Given the description of an element on the screen output the (x, y) to click on. 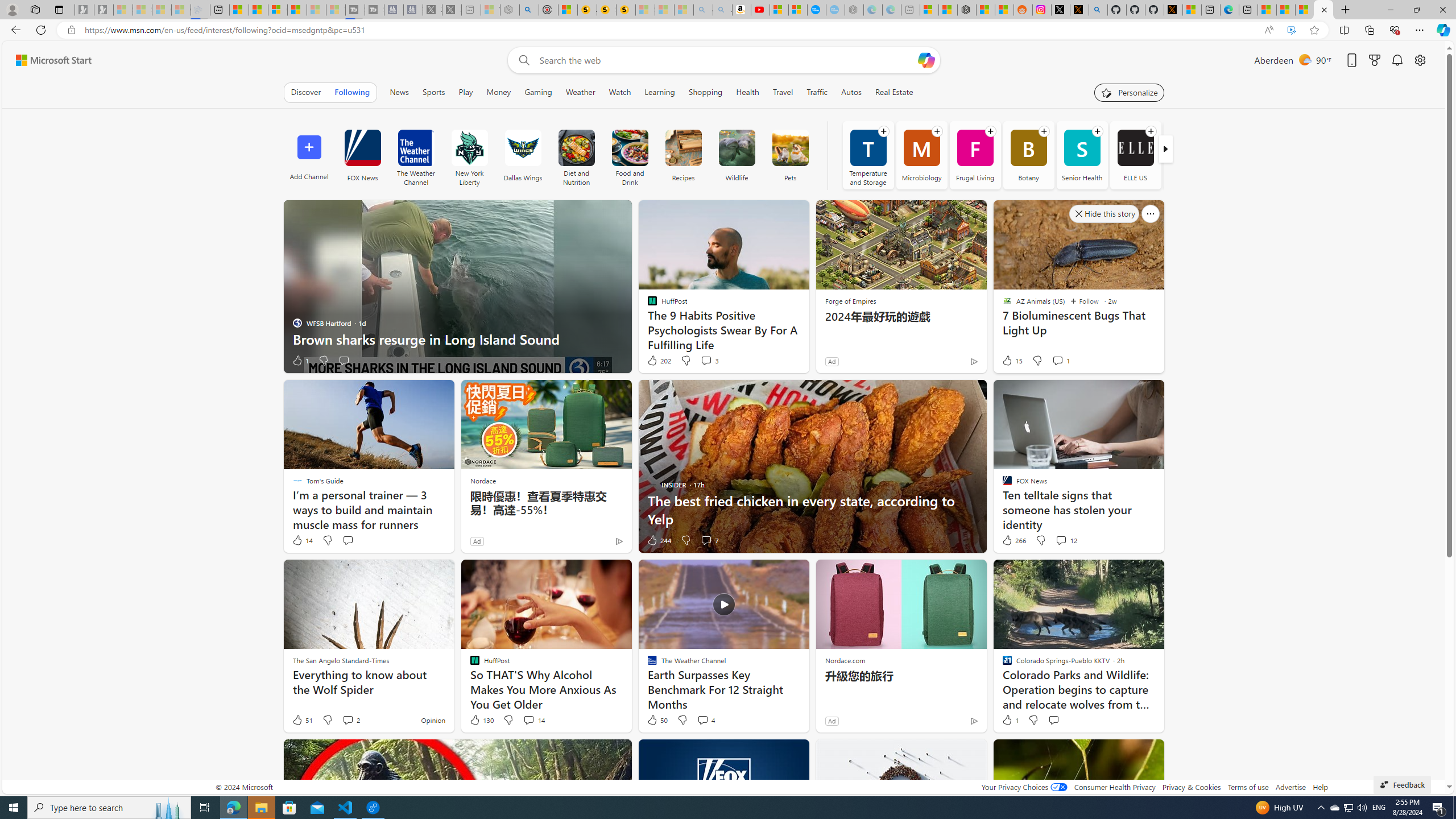
View comments 14 Comment (528, 719)
Day 1: Arriving in Yemen (surreal to be here) - YouTube (759, 9)
The Weather Channel (416, 155)
Advertise (1290, 786)
Terms of use (1247, 786)
Privacy & Cookies (1191, 786)
help.x.com | 524: A timeout occurred (1079, 9)
Nordace - Duffels (966, 9)
